Given the description of an element on the screen output the (x, y) to click on. 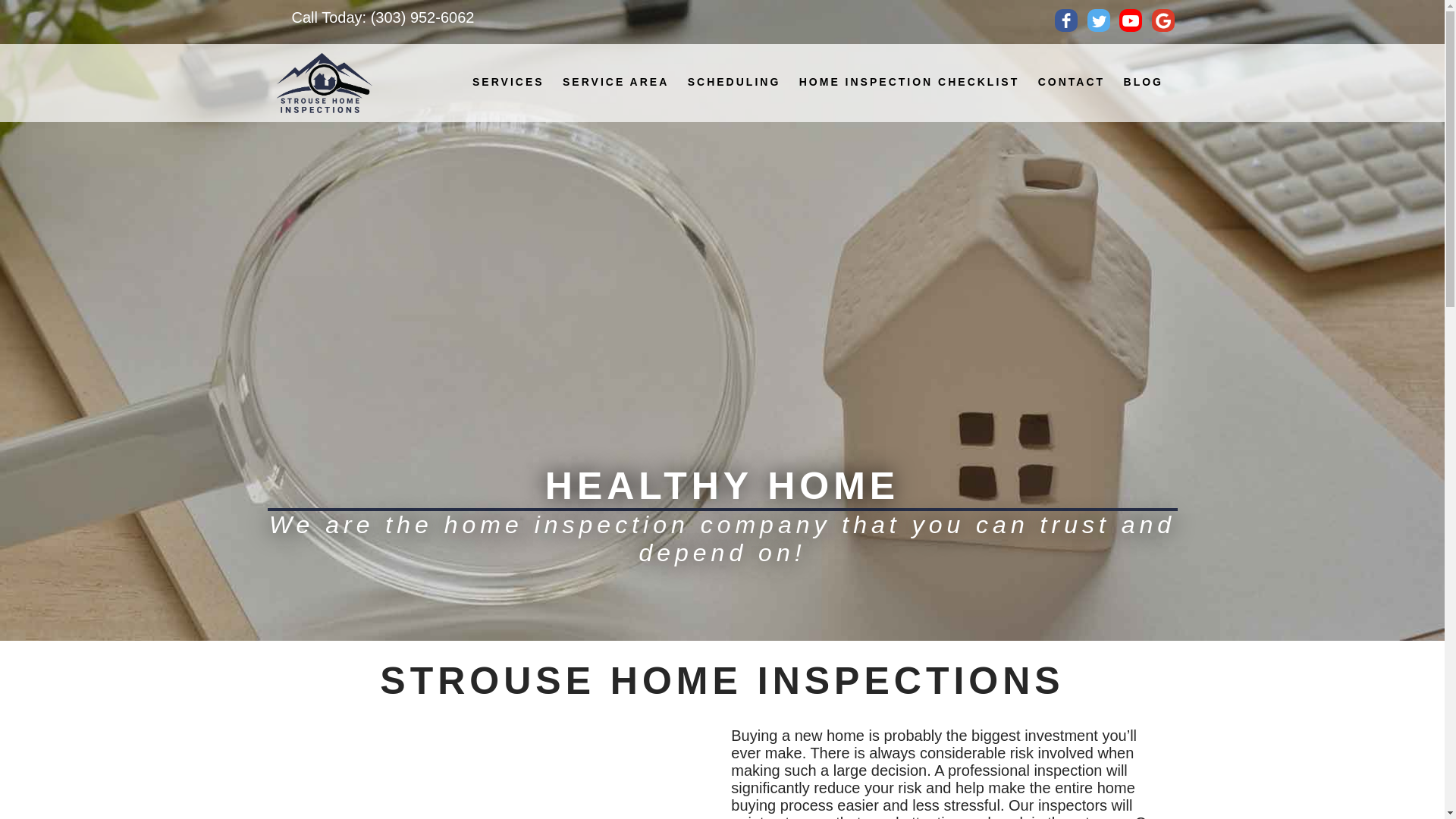
HOME INSPECTION CHECKLIST (909, 81)
SERVICES (507, 81)
Strouse Home Inspections (323, 83)
BLOG (1143, 81)
SCHEDULING (734, 81)
Strouse Home Inspections Logo (323, 83)
Facebook (1065, 20)
YouTube (1130, 20)
Google Places (1162, 20)
SERVICE AREA (615, 81)
CONTACT (1071, 81)
Twitter (1098, 20)
